Given the description of an element on the screen output the (x, y) to click on. 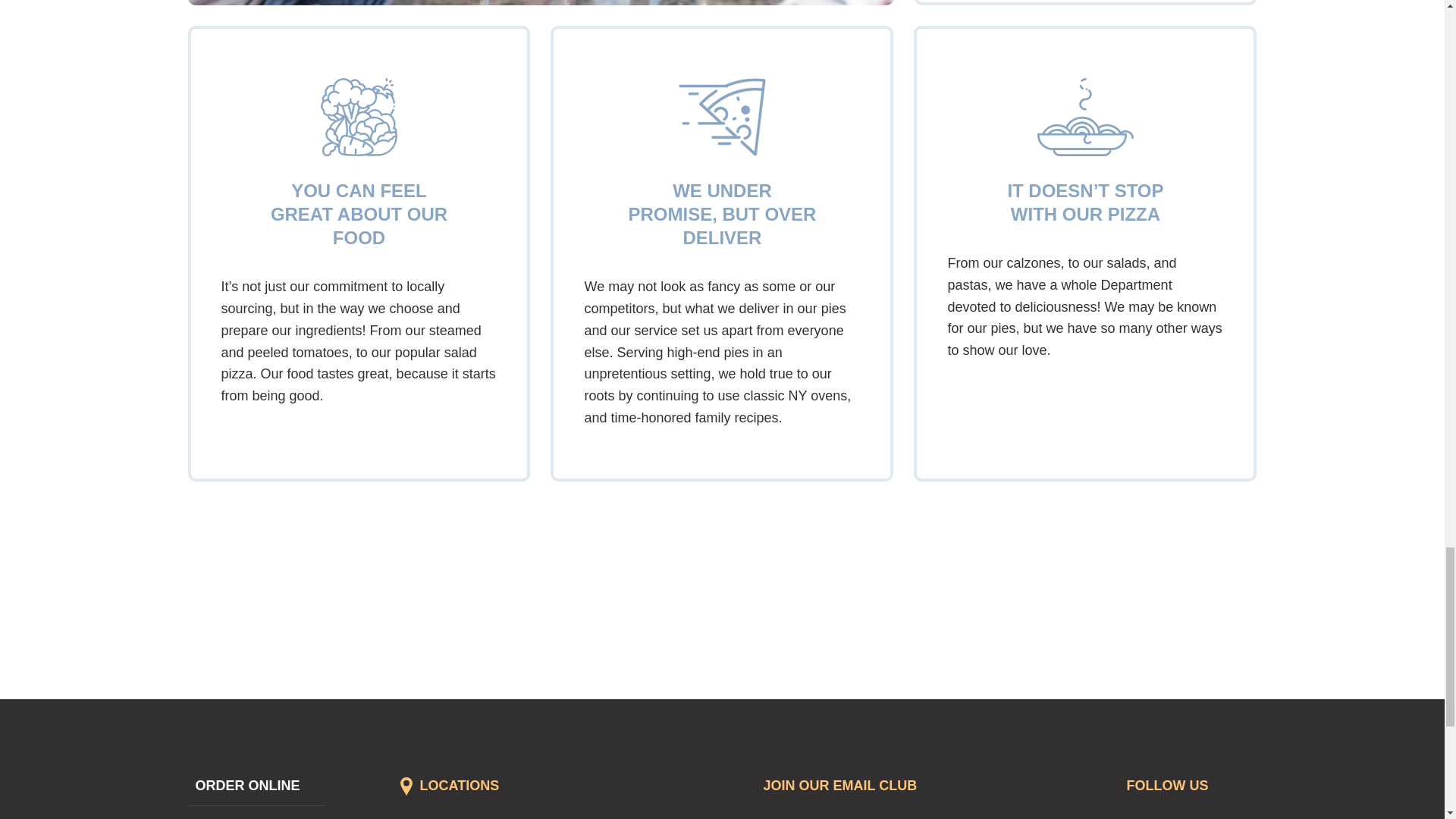
ORDER ONLINE (243, 785)
